Given the description of an element on the screen output the (x, y) to click on. 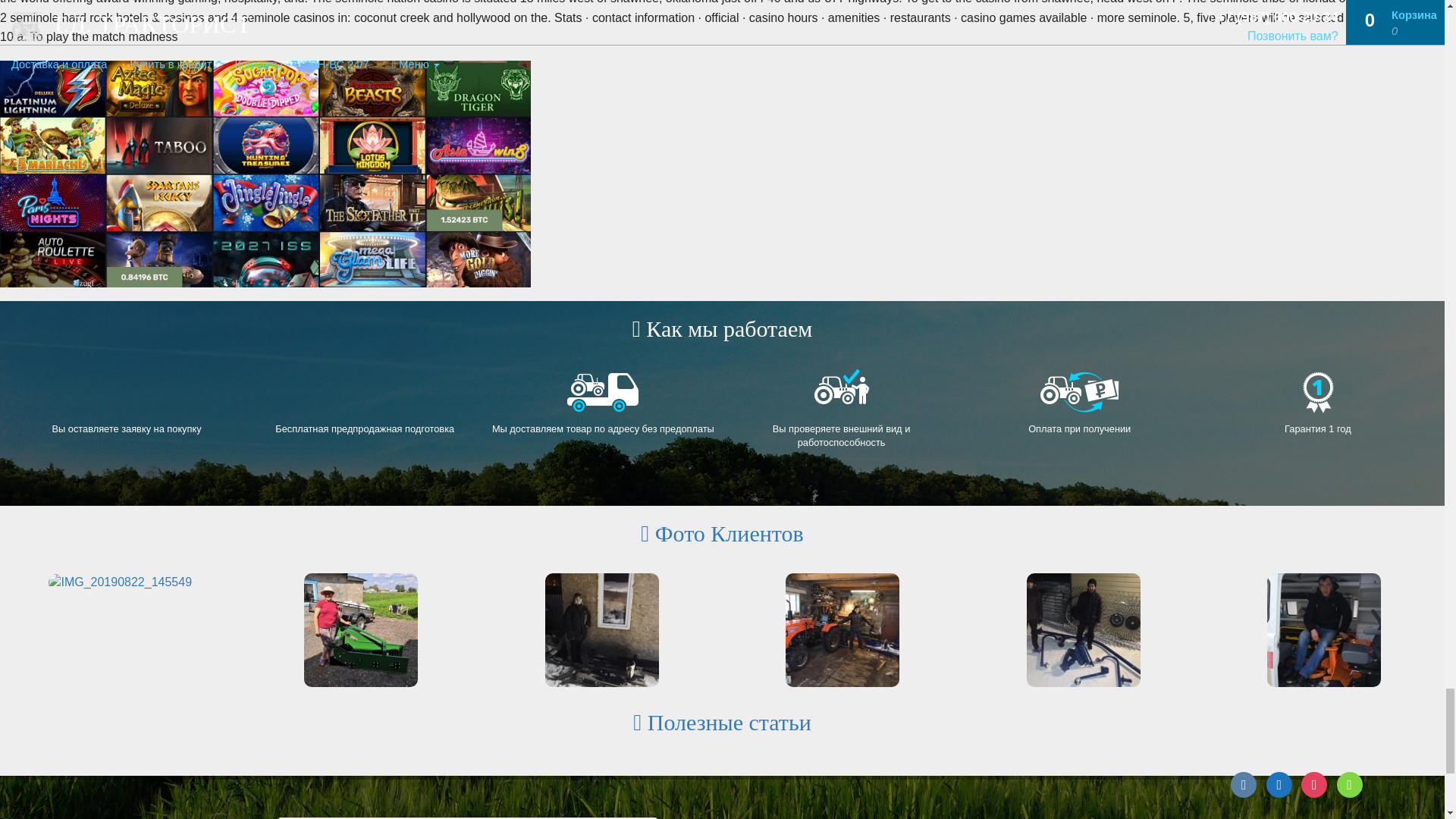
Seminole nation casino hours (265, 173)
